Given the description of an element on the screen output the (x, y) to click on. 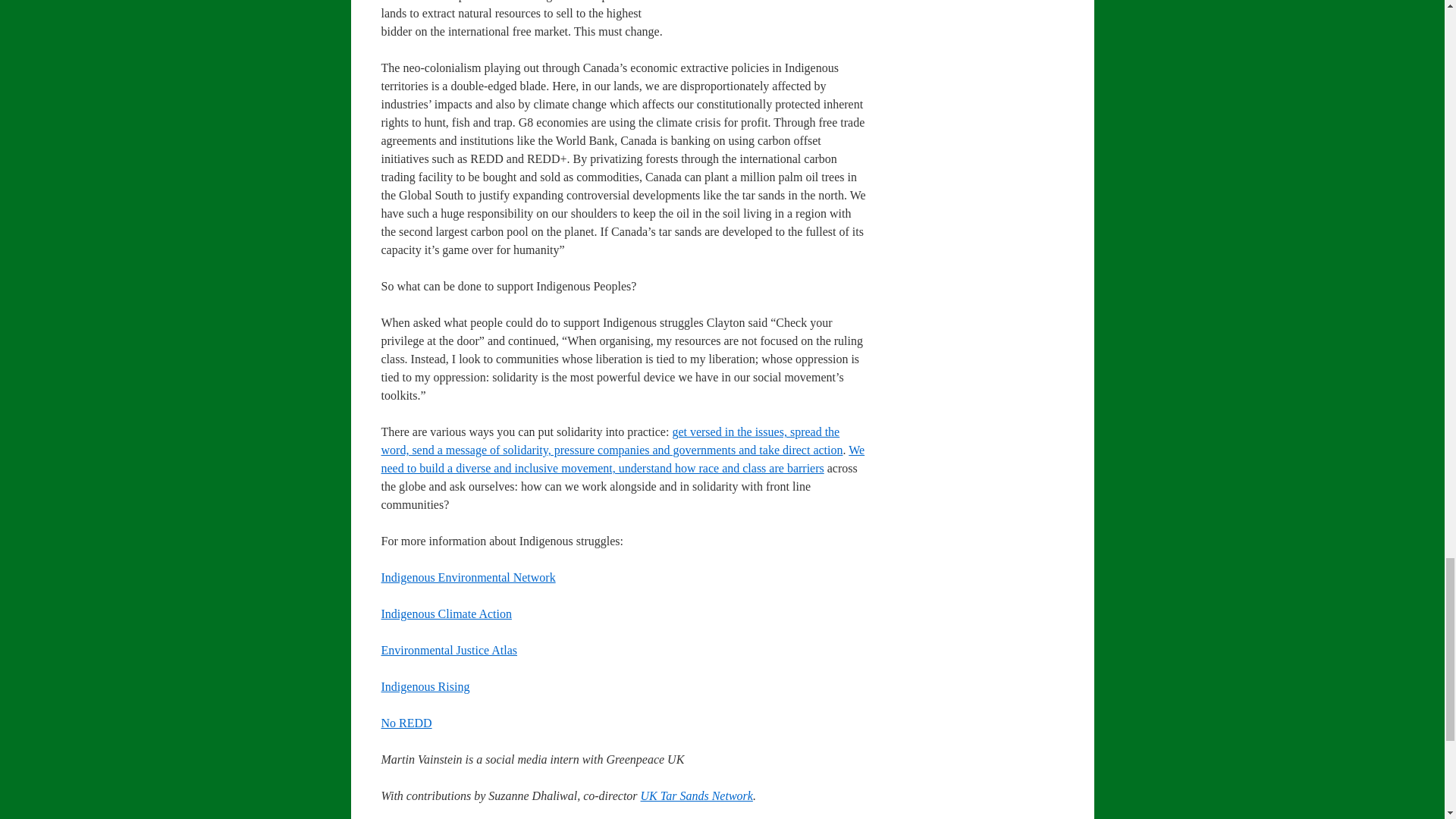
Indigenous Climate Action (445, 613)
UK Tar Sands Network (696, 795)
Indigenous Rising (424, 686)
Indigenous Environmental Network (467, 576)
No REDD (405, 722)
Environmental Justice Atlas (448, 649)
